Given the description of an element on the screen output the (x, y) to click on. 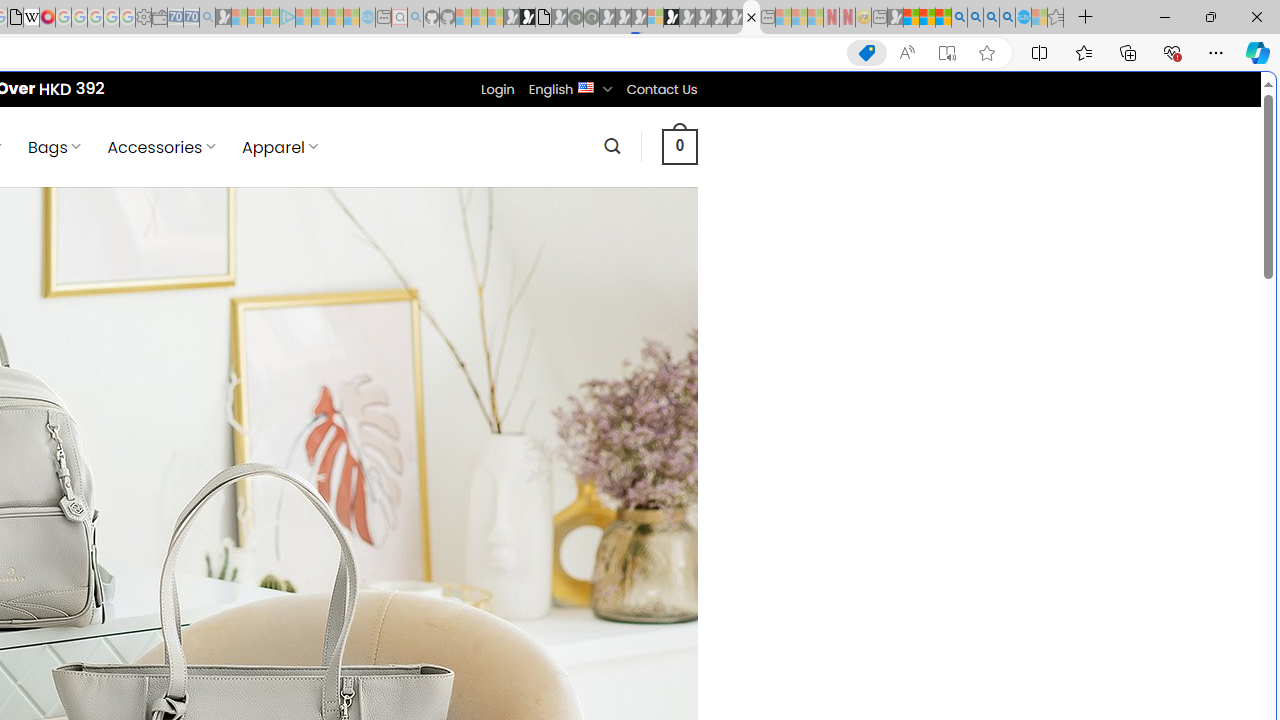
Favorites - Sleeping (1055, 17)
Search or enter web address (343, 191)
 0  (679, 146)
Enter Immersive Reader (F9) (946, 53)
  0   (679, 146)
Wallet - Sleeping (159, 17)
